Given the description of an element on the screen output the (x, y) to click on. 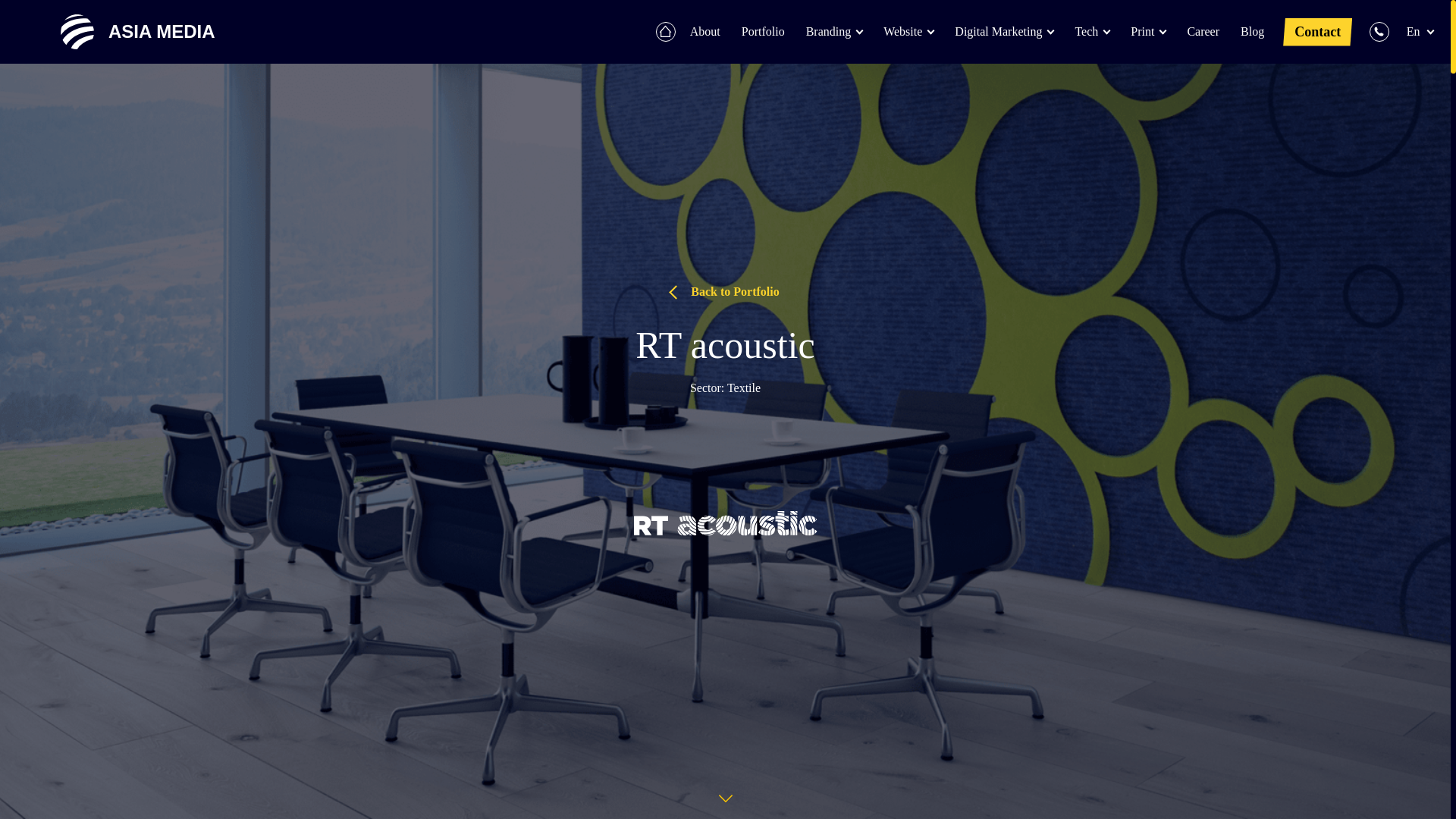
Digital Marketing (1003, 31)
ASIA MEDIA (125, 31)
Contact (1317, 31)
Print (1147, 31)
About (704, 31)
Tech (1091, 31)
Blog (1252, 31)
Branding (833, 31)
Career (1203, 31)
Website (907, 31)
Portfolio (762, 31)
